Given the description of an element on the screen output the (x, y) to click on. 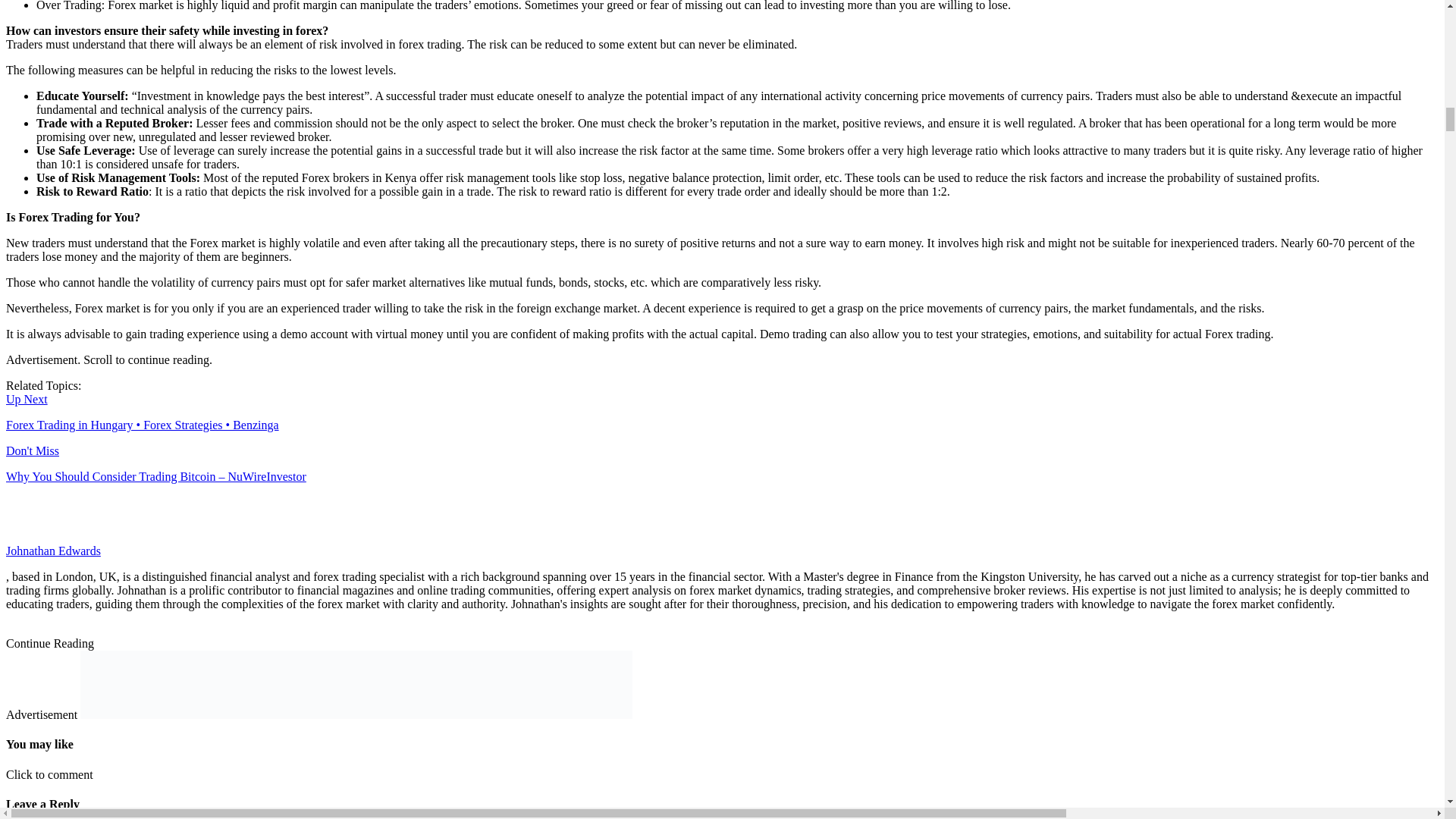
Posts by Johnathan Edwards (52, 550)
